Given the description of an element on the screen output the (x, y) to click on. 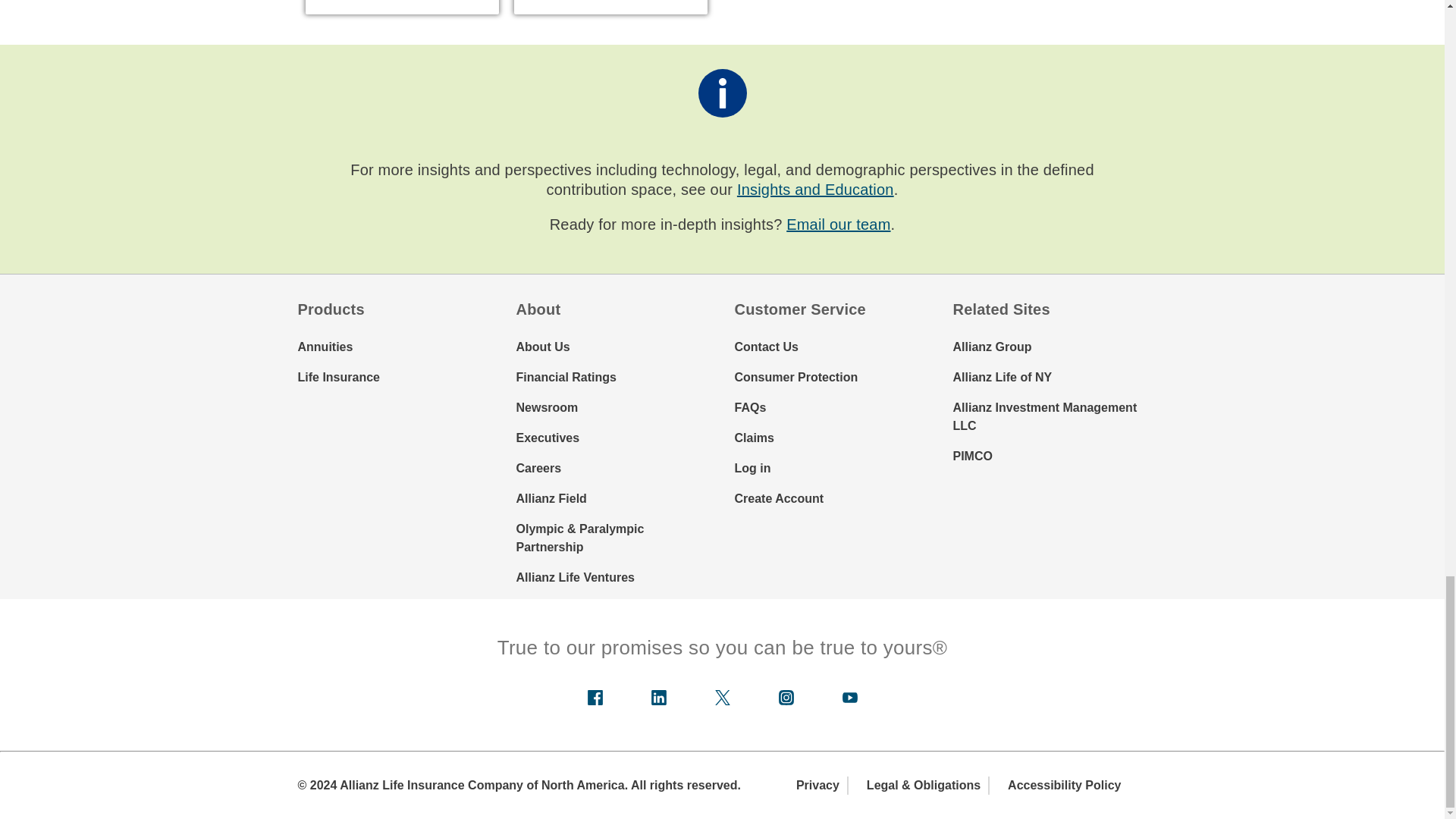
XDescribe me please (721, 697)
FacebookDescribe me please (594, 697)
LinkedInDescribe me please (657, 697)
YoutubeDescribe me please (849, 697)
InstagramDescribe me please (785, 697)
